Given the description of an element on the screen output the (x, y) to click on. 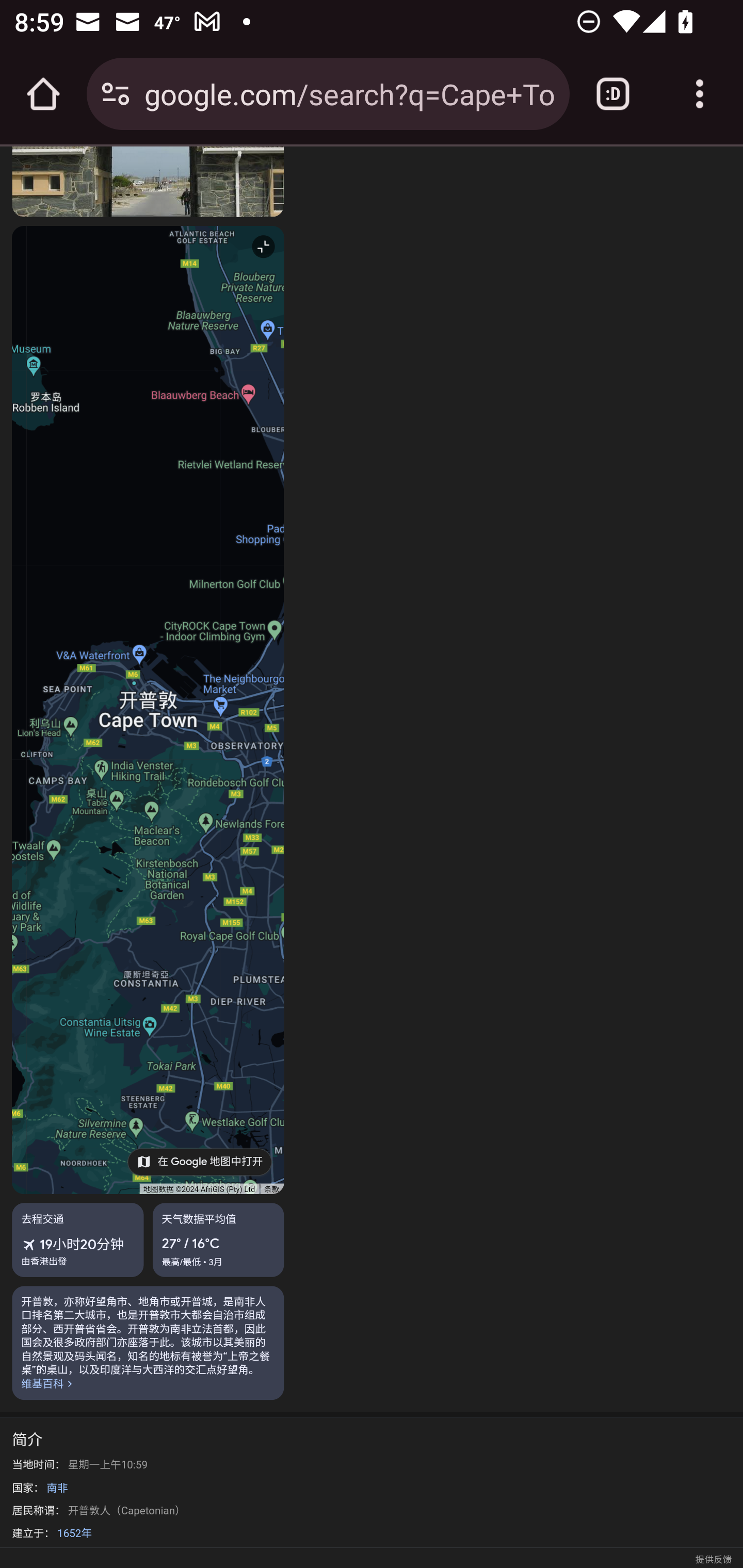
Open the home page (43, 93)
Connection is secure (115, 93)
Switch or close tabs (612, 93)
Customize and control Google Chrome (699, 93)
收起地图 (263, 246)
在 Google 地图中打开 (199, 1161)
去程交通 19小时20分钟 乘坐飞机 由香港出發 (77, 1239)
天气数据平均值 27° / 16°C 最高/最低 • 3月 (217, 1239)
%E9%96%8B%E6%99%AE%E6%95%A6 (147, 1343)
南非 (57, 1487)
1652年 (74, 1533)
提供反馈 (713, 1555)
